Given the description of an element on the screen output the (x, y) to click on. 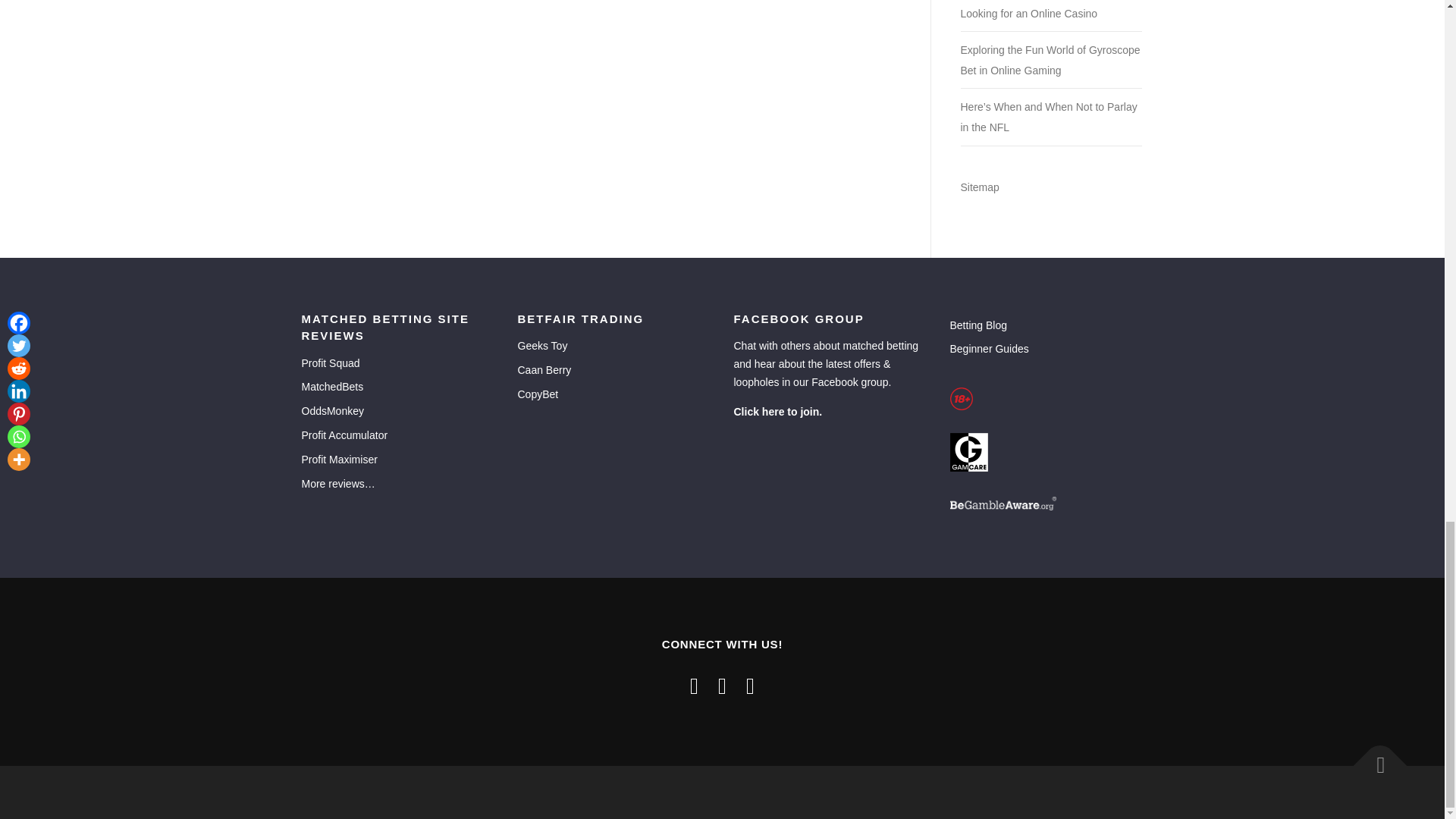
Back To Top (1372, 757)
Facebook (721, 685)
Email (749, 685)
Twitter (694, 685)
